Given the description of an element on the screen output the (x, y) to click on. 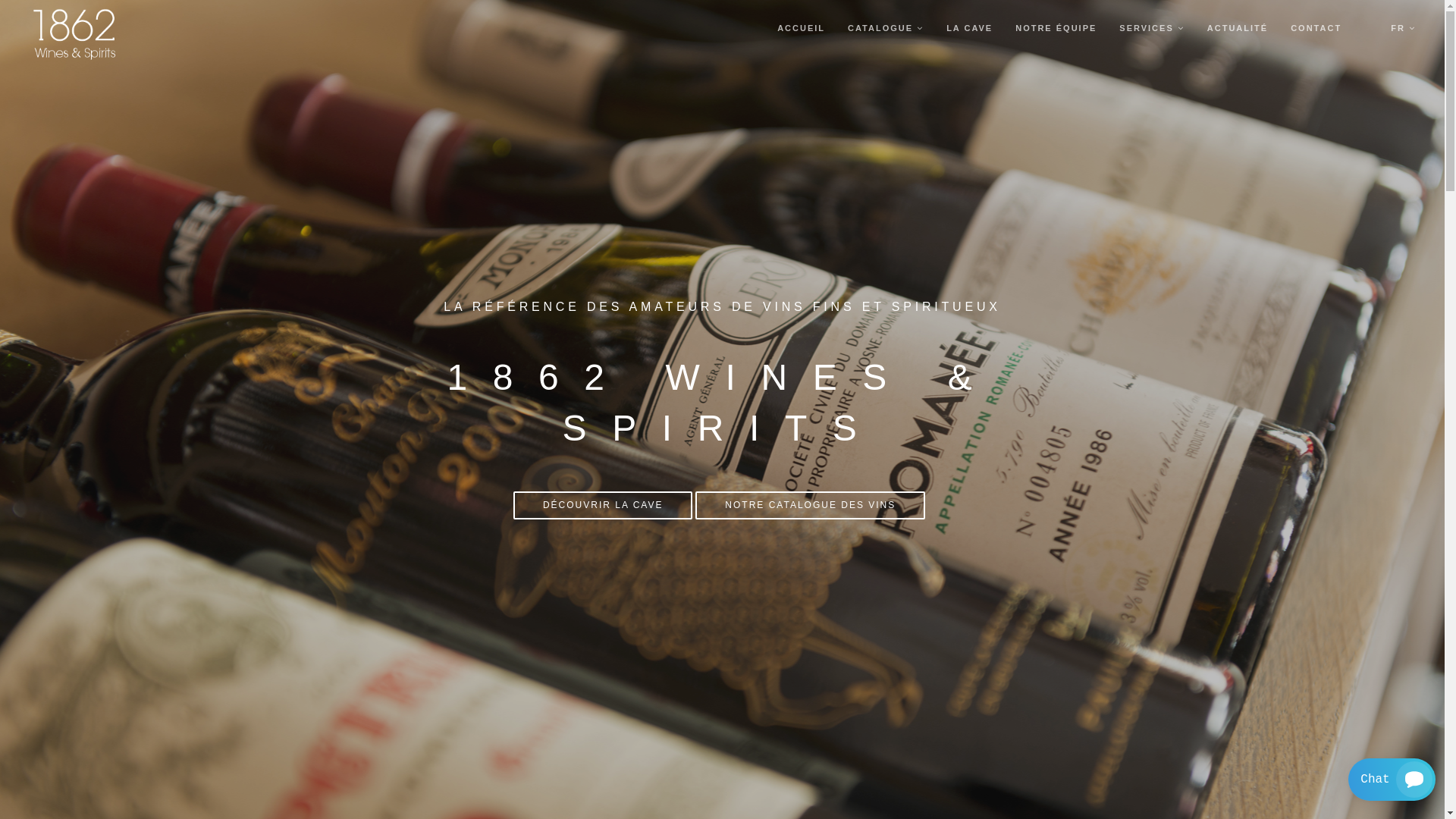
NOTRE CATALOGUE DES VINS Element type: text (810, 505)
SERVICES Element type: text (1151, 28)
ACCUEIL Element type: text (801, 28)
  Element type: text (1366, 28)
CONTACT Element type: text (1315, 28)
CATALOGUE Element type: text (885, 28)
Smartsupp widget button Element type: hover (1391, 779)
LA CAVE Element type: text (969, 28)
FR Element type: text (1402, 28)
